Given the description of an element on the screen output the (x, y) to click on. 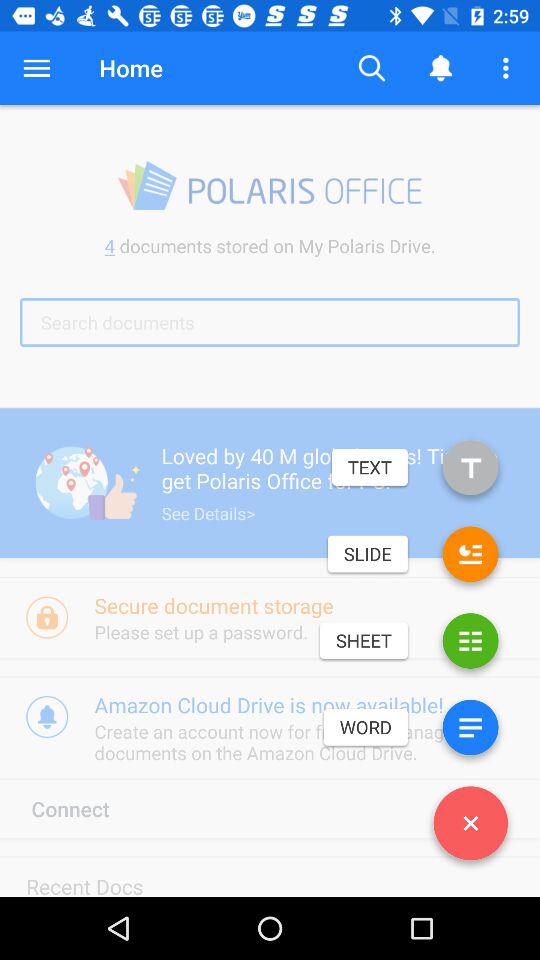
open word (470, 731)
